Given the description of an element on the screen output the (x, y) to click on. 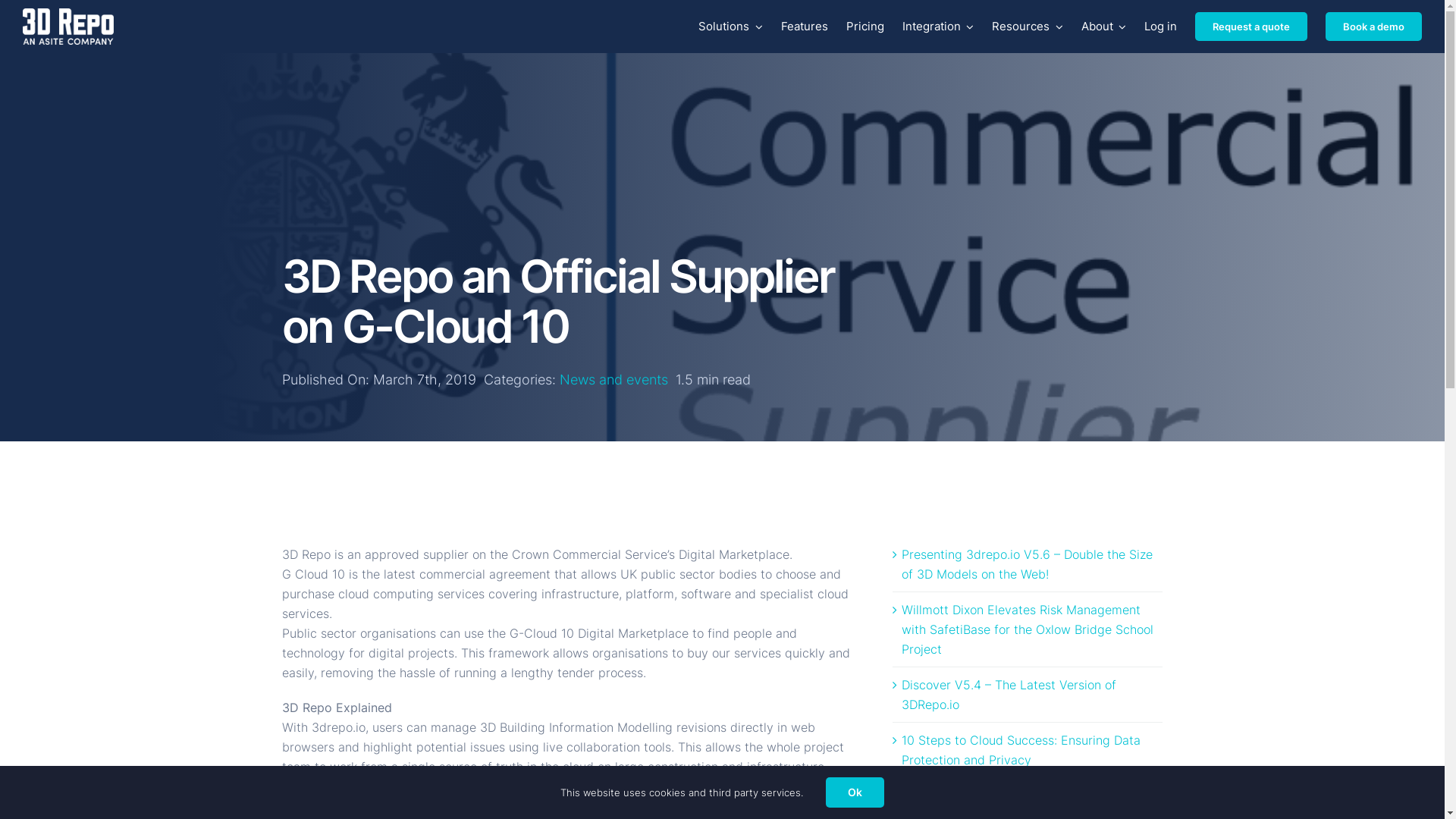
Log in Element type: text (1160, 26)
Ok Element type: text (854, 792)
Pricing Element type: text (865, 26)
Integration Element type: text (938, 26)
About Element type: text (1103, 26)
News and events Element type: text (613, 379)
Request a quote Element type: text (1251, 26)
Book a demo Element type: text (1373, 26)
Features Element type: text (804, 26)
Resources Element type: text (1027, 26)
Solutions Element type: text (730, 26)
